Given the description of an element on the screen output the (x, y) to click on. 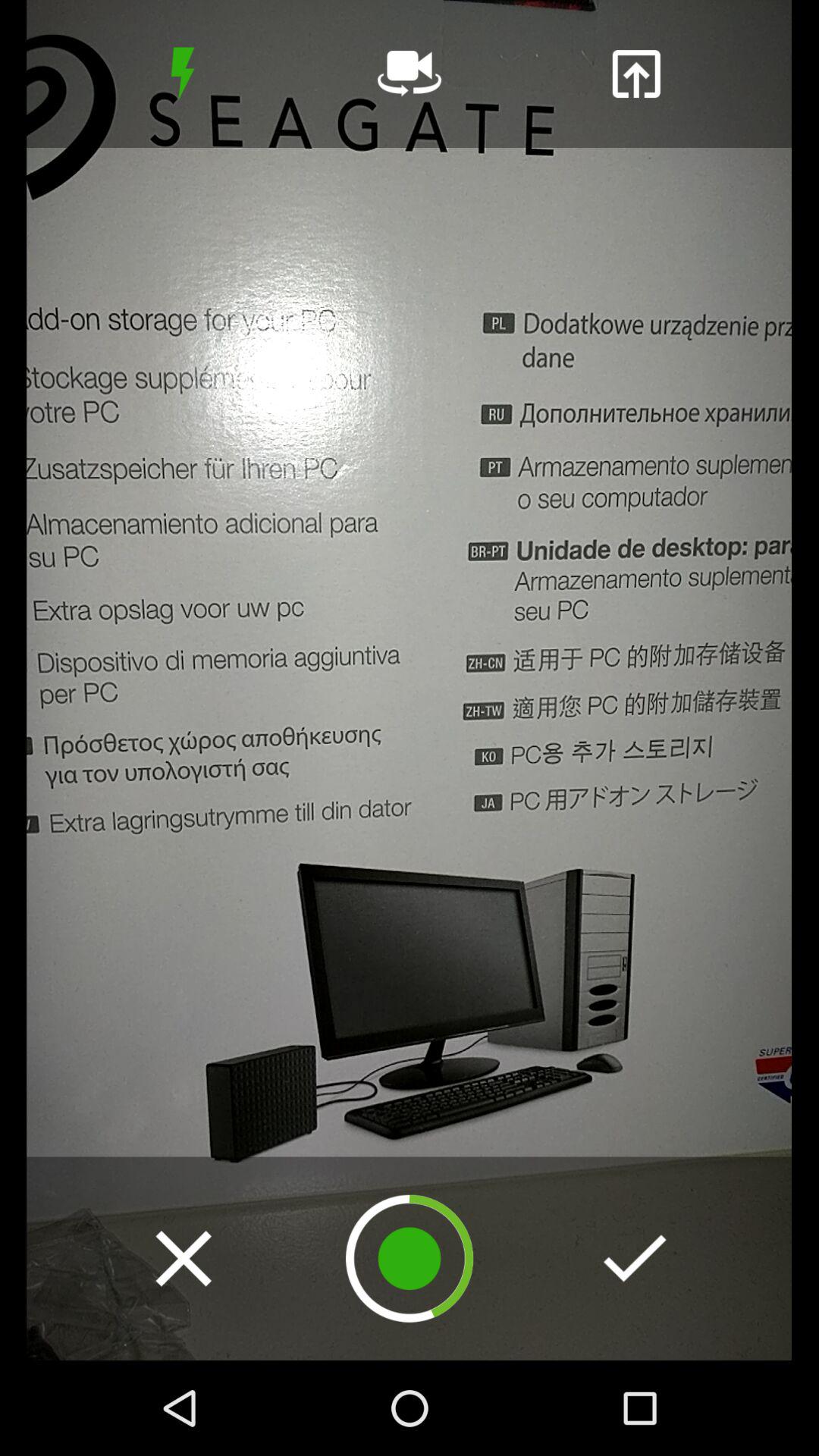
import a video (635, 73)
